Given the description of an element on the screen output the (x, y) to click on. 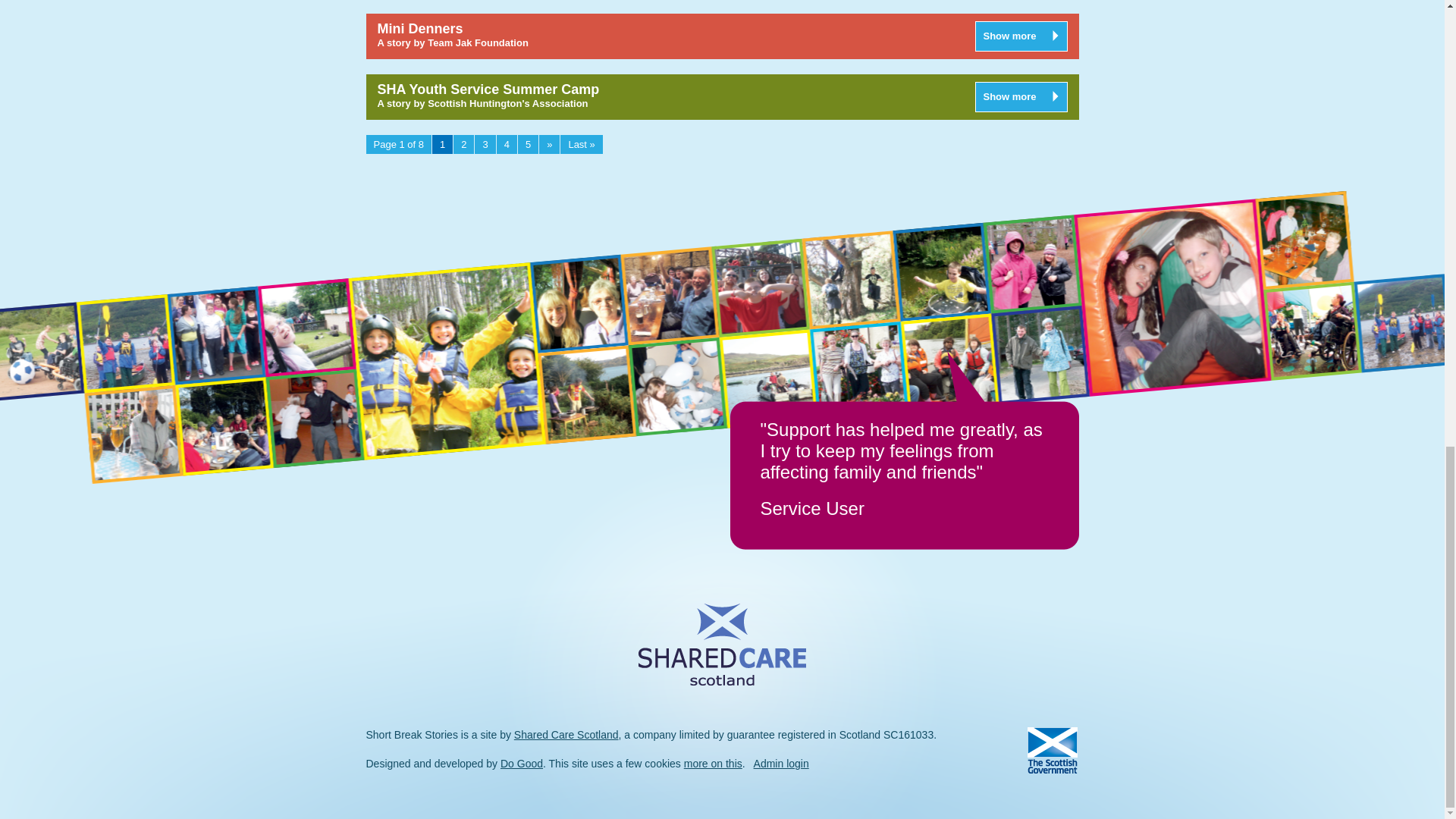
Page 3 (484, 144)
Page 5 (528, 144)
Cookie Statement (713, 763)
Page 2 (463, 144)
Do Good Advertising (521, 763)
Page 4 (506, 144)
